Given the description of an element on the screen output the (x, y) to click on. 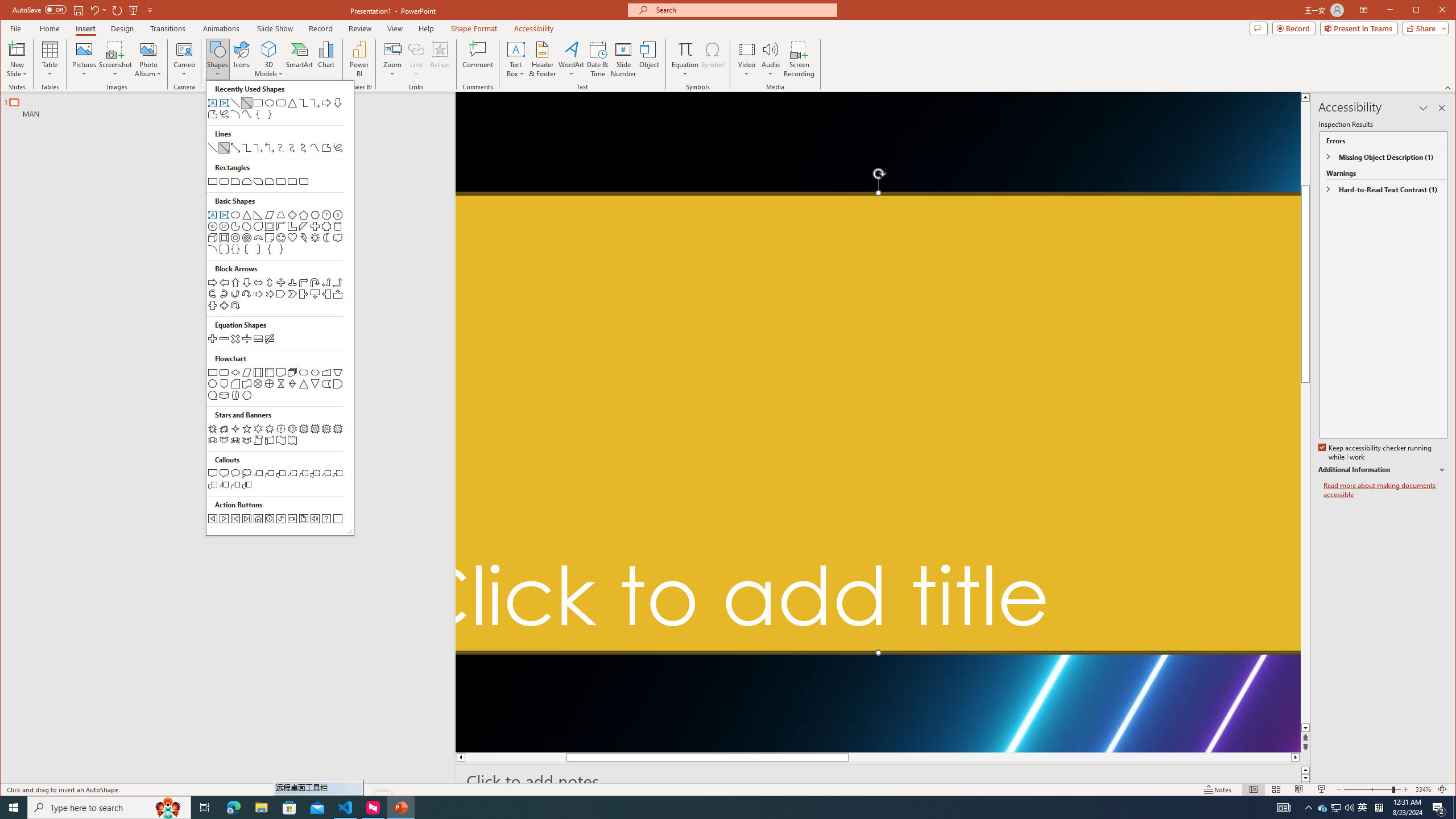
Microsoft search (742, 10)
New Photo Album... (148, 48)
File Explorer (261, 807)
Type here to search (108, 807)
Visual Studio Code - 1 running window (345, 807)
Search highlights icon opens search home window (167, 807)
